Given the description of an element on the screen output the (x, y) to click on. 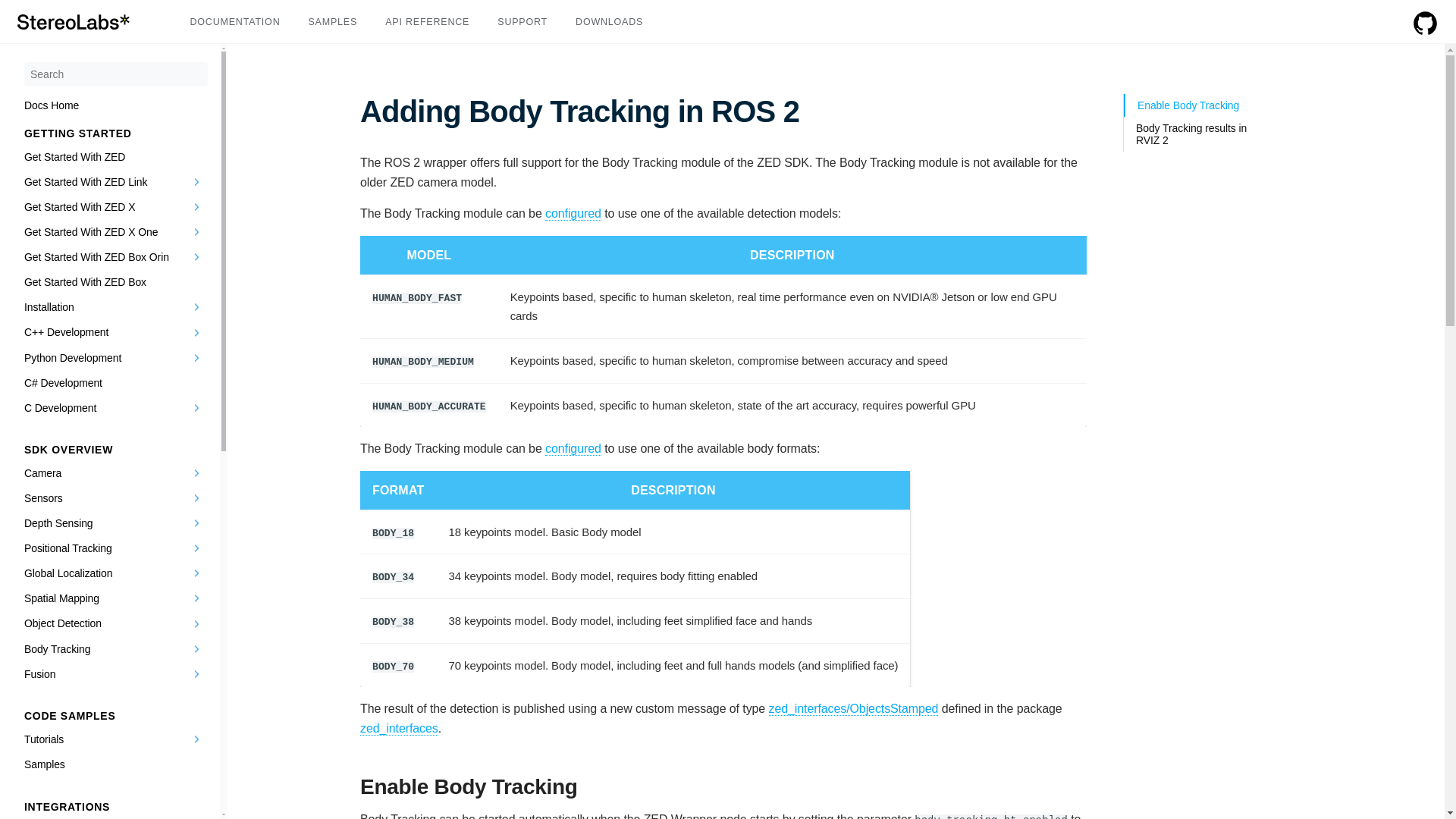
DOWNLOADS (609, 21)
Get Started With ZED X One (116, 232)
DOCUMENTATION (234, 21)
Get Started With ZED Box Orin (116, 257)
Get Started With ZED X (116, 206)
API REFERENCE (426, 21)
GitHub (1425, 31)
SUPPORT (522, 21)
Get Started With ZED Link (116, 181)
Get Started With ZED (116, 156)
SAMPLES (331, 21)
Installation (116, 307)
Docs Home (51, 105)
Get Started With ZED Box (116, 282)
